Given the description of an element on the screen output the (x, y) to click on. 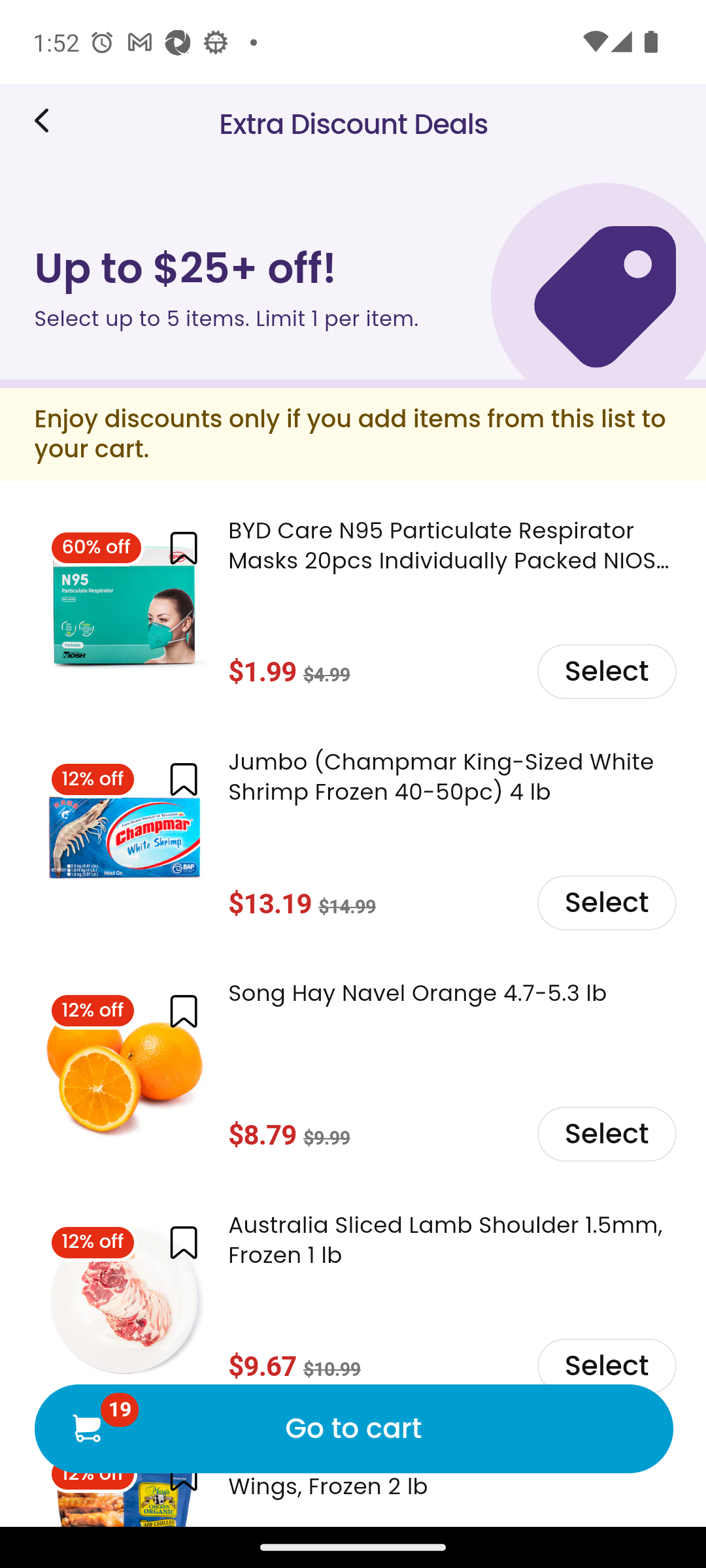
Weee! - Groceries Delivered (47, 119)
 (182, 548)
Select (606, 670)
 (182, 778)
Select (606, 901)
 (182, 1010)
Select (606, 1133)
 (182, 1242)
Select (606, 1364)
19  (86, 1427)
